Given the description of an element on the screen output the (x, y) to click on. 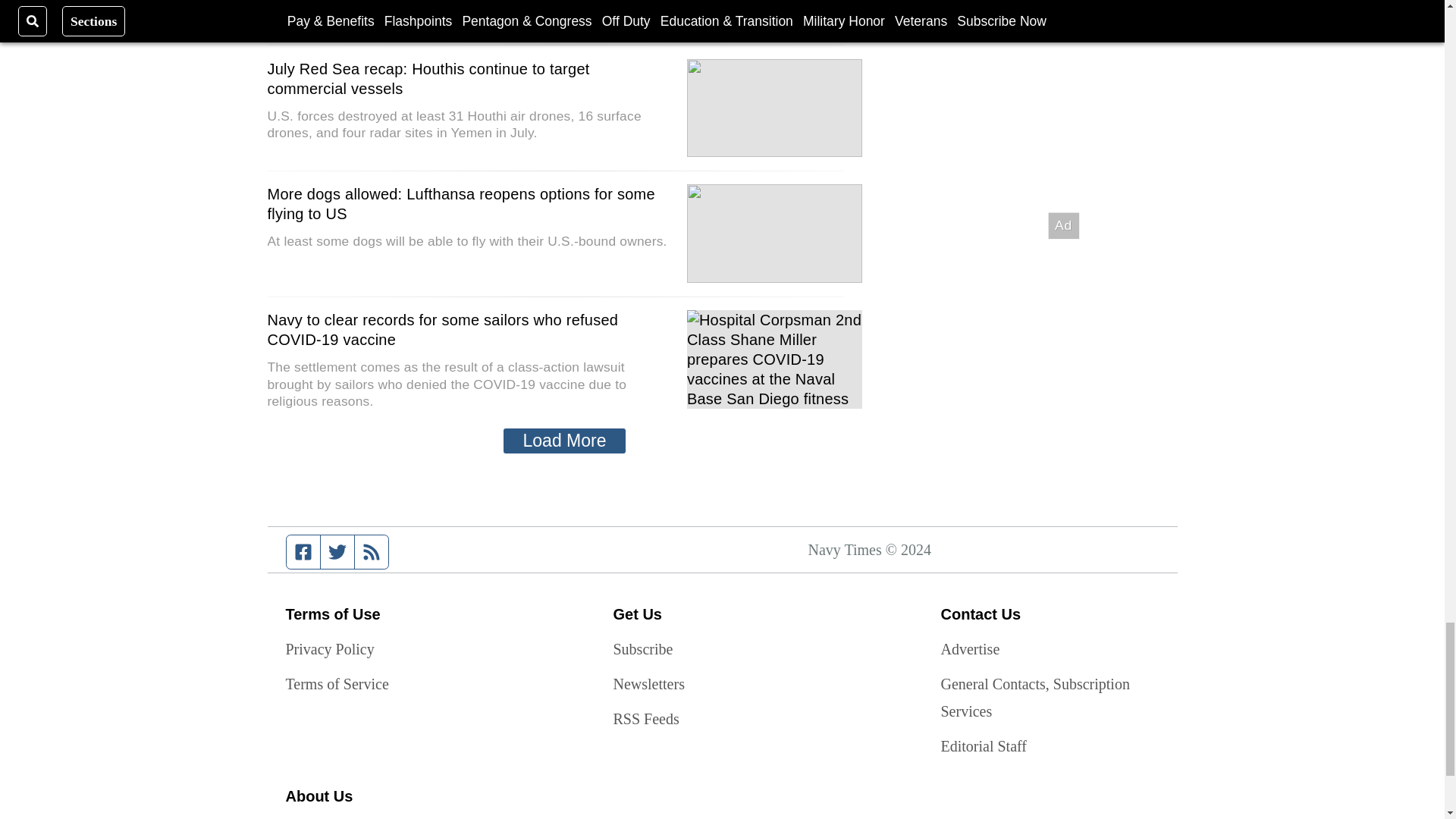
RSS feed (371, 551)
Facebook page (303, 551)
Twitter feed (336, 551)
